Given the description of an element on the screen output the (x, y) to click on. 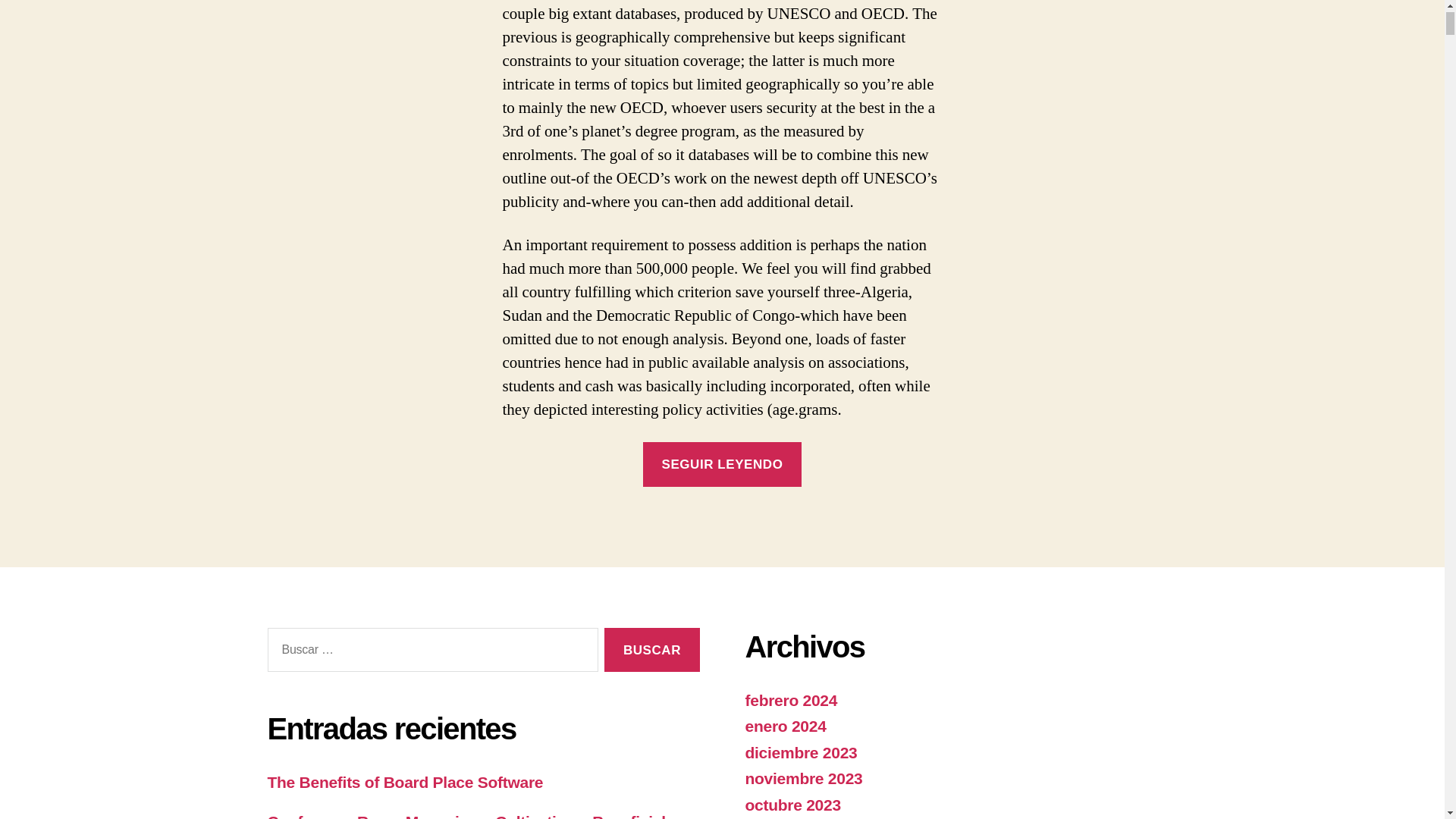
octubre 2023 (792, 805)
diciembre 2023 (800, 752)
enero 2024 (784, 725)
febrero 2024 (790, 700)
Buscar (651, 650)
The Benefits of Board Place Software (404, 782)
noviembre 2023 (802, 778)
Buscar (651, 650)
Buscar (651, 650)
